Given the description of an element on the screen output the (x, y) to click on. 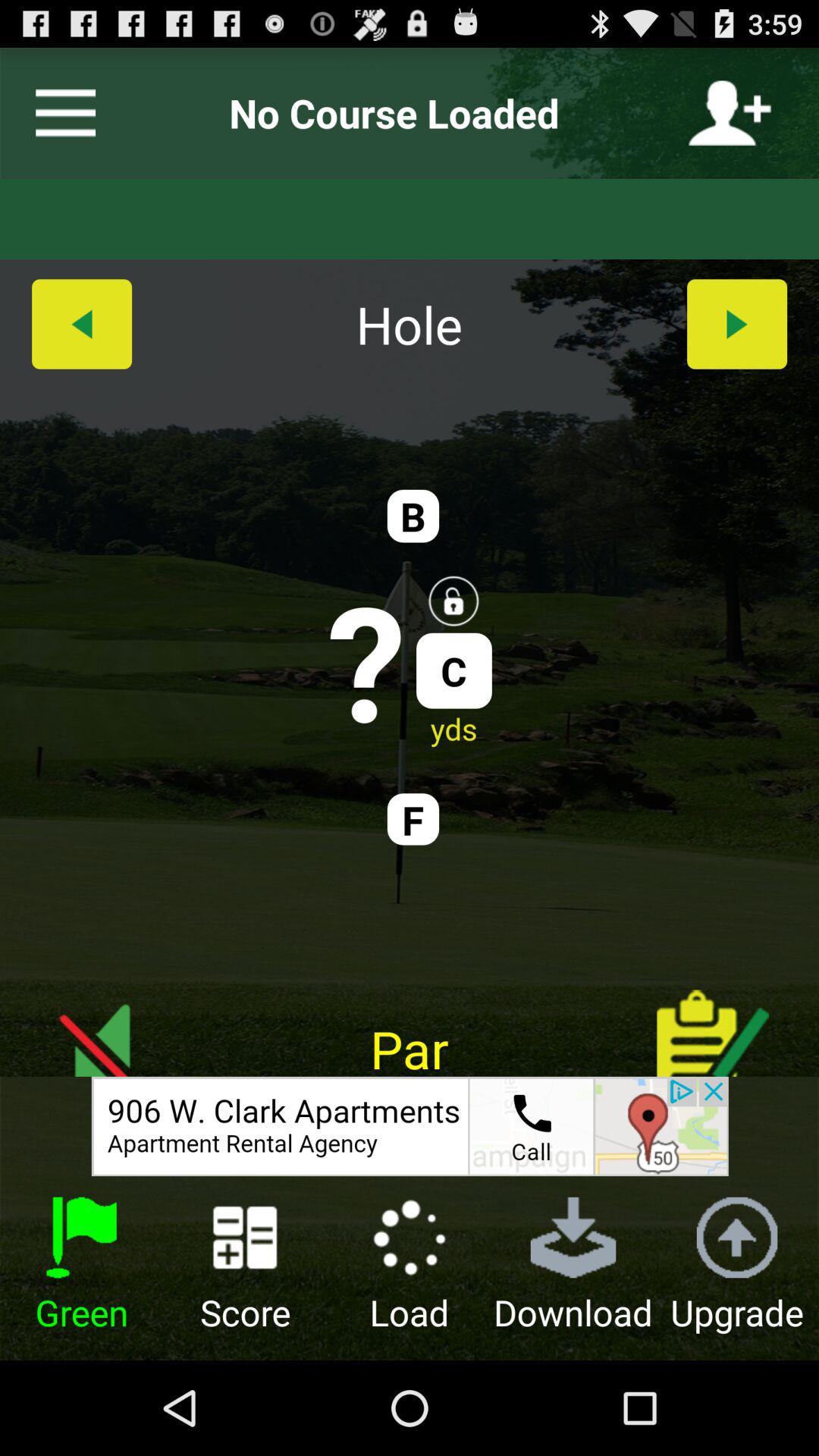
click mute option (105, 1021)
